Given the description of an element on the screen output the (x, y) to click on. 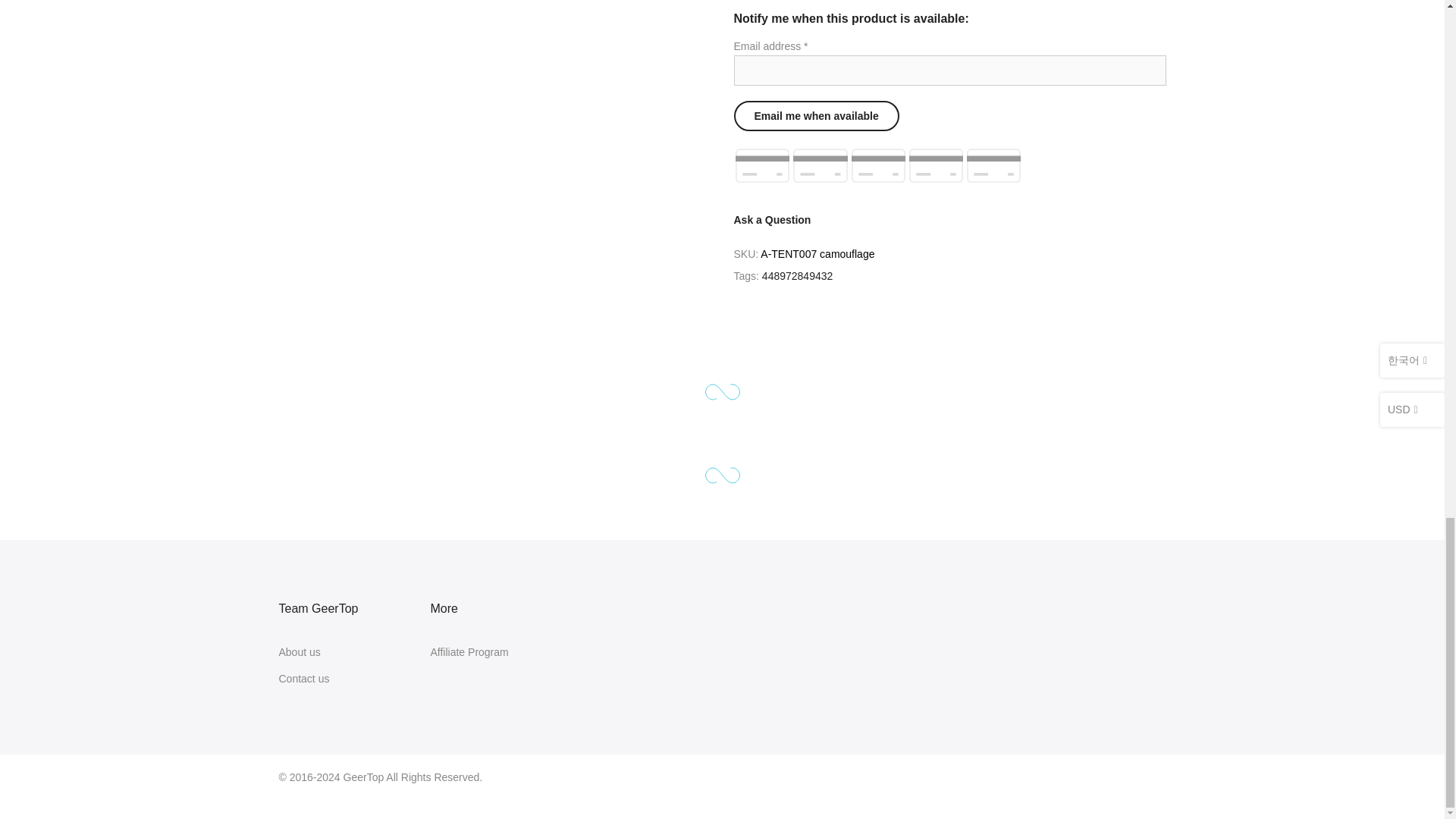
Ask a Question (771, 219)
Contact us (304, 678)
About us (299, 652)
448972849432 (796, 275)
Email me when available (816, 115)
Email me when available (816, 115)
Affiliate Program (469, 652)
